Given the description of an element on the screen output the (x, y) to click on. 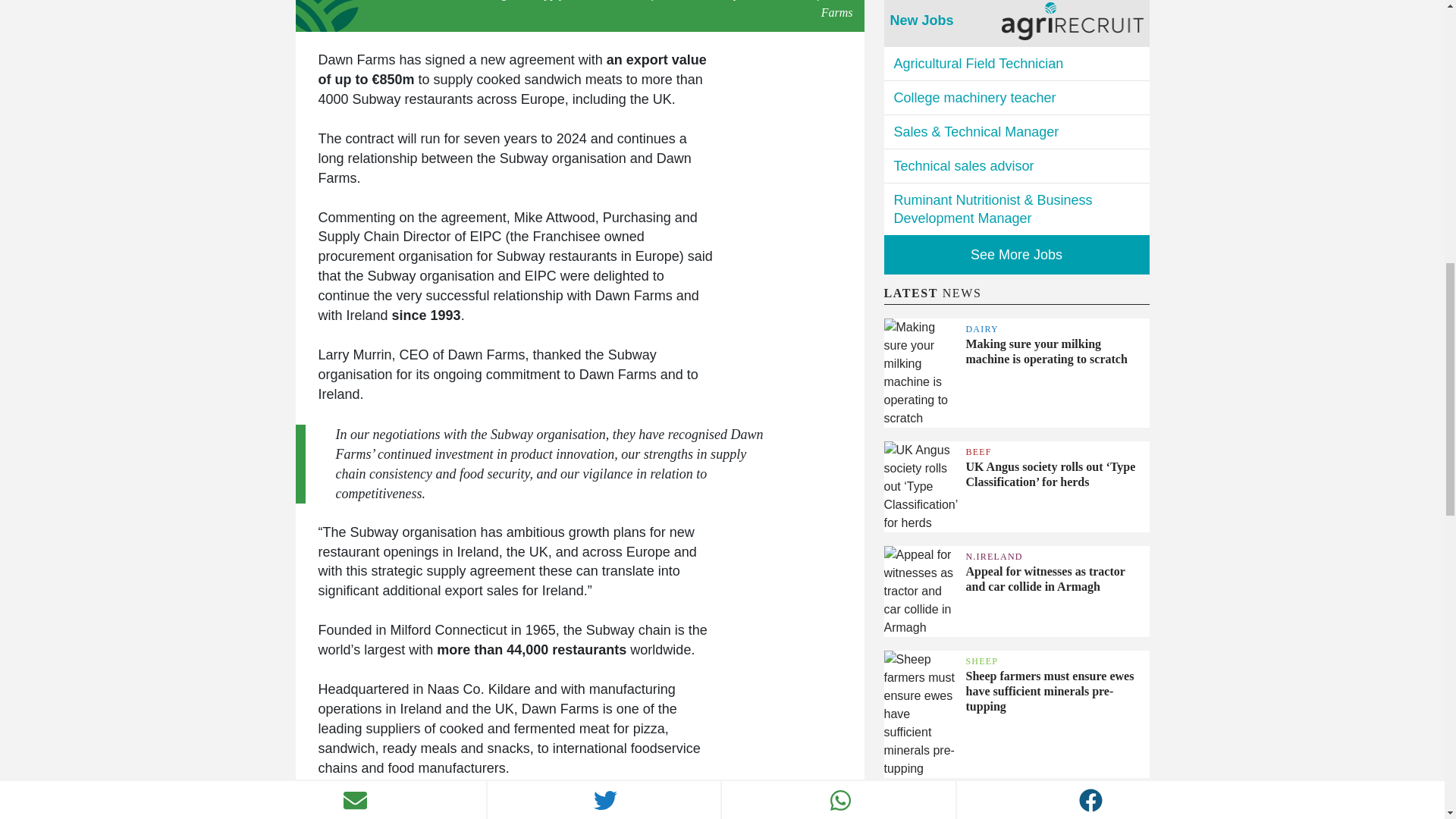
Technical sales advisor (1016, 165)
Agricultural Field Technician (1016, 63)
College machinery teacher (1016, 97)
